Given the description of an element on the screen output the (x, y) to click on. 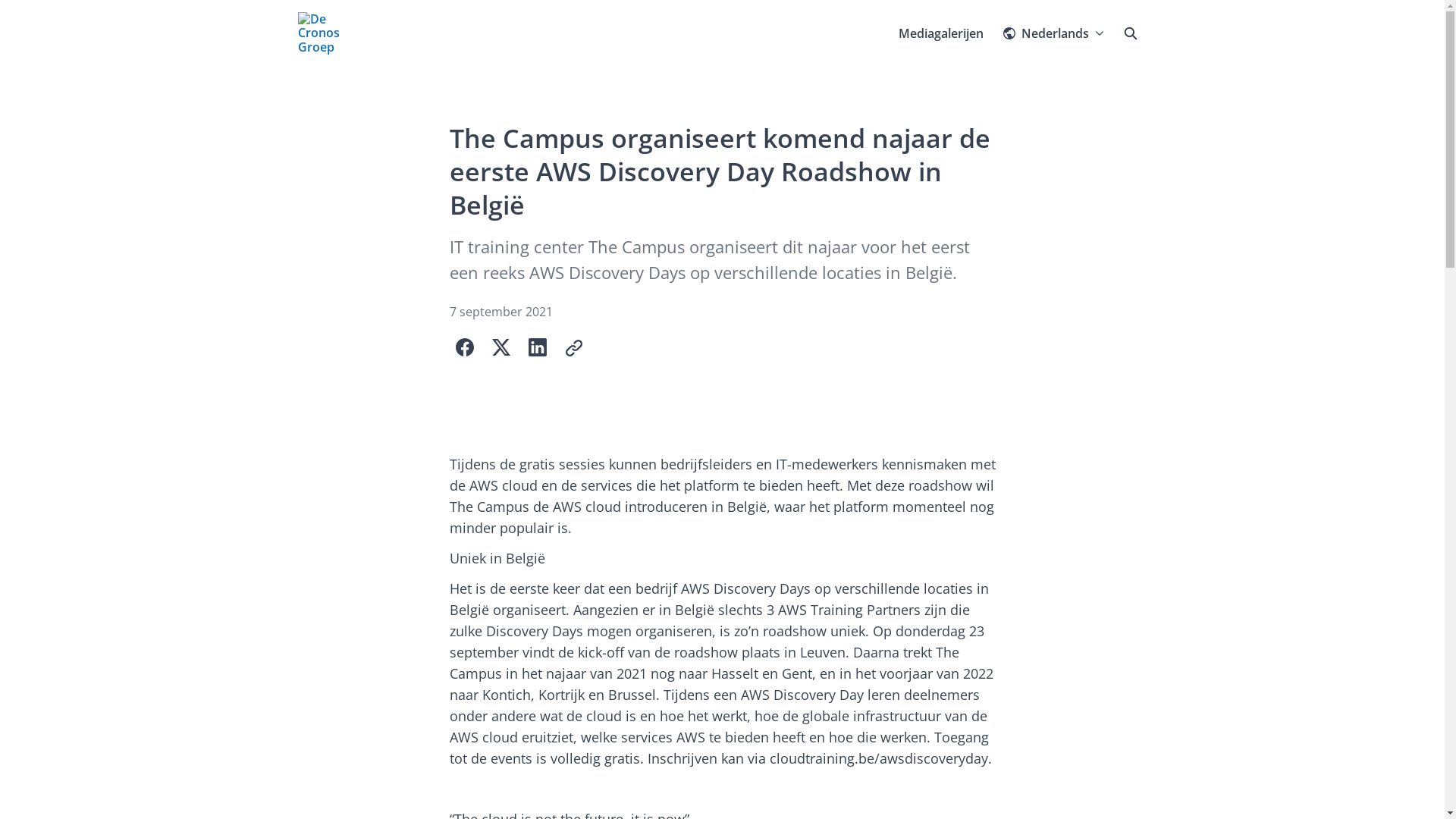
Zoeken Element type: hover (1129, 33)
DE CRONOS GROEP Element type: text (328, 33)
Mediagalerijen Element type: text (940, 33)
Nederlands Element type: text (1053, 33)
